Given the description of an element on the screen output the (x, y) to click on. 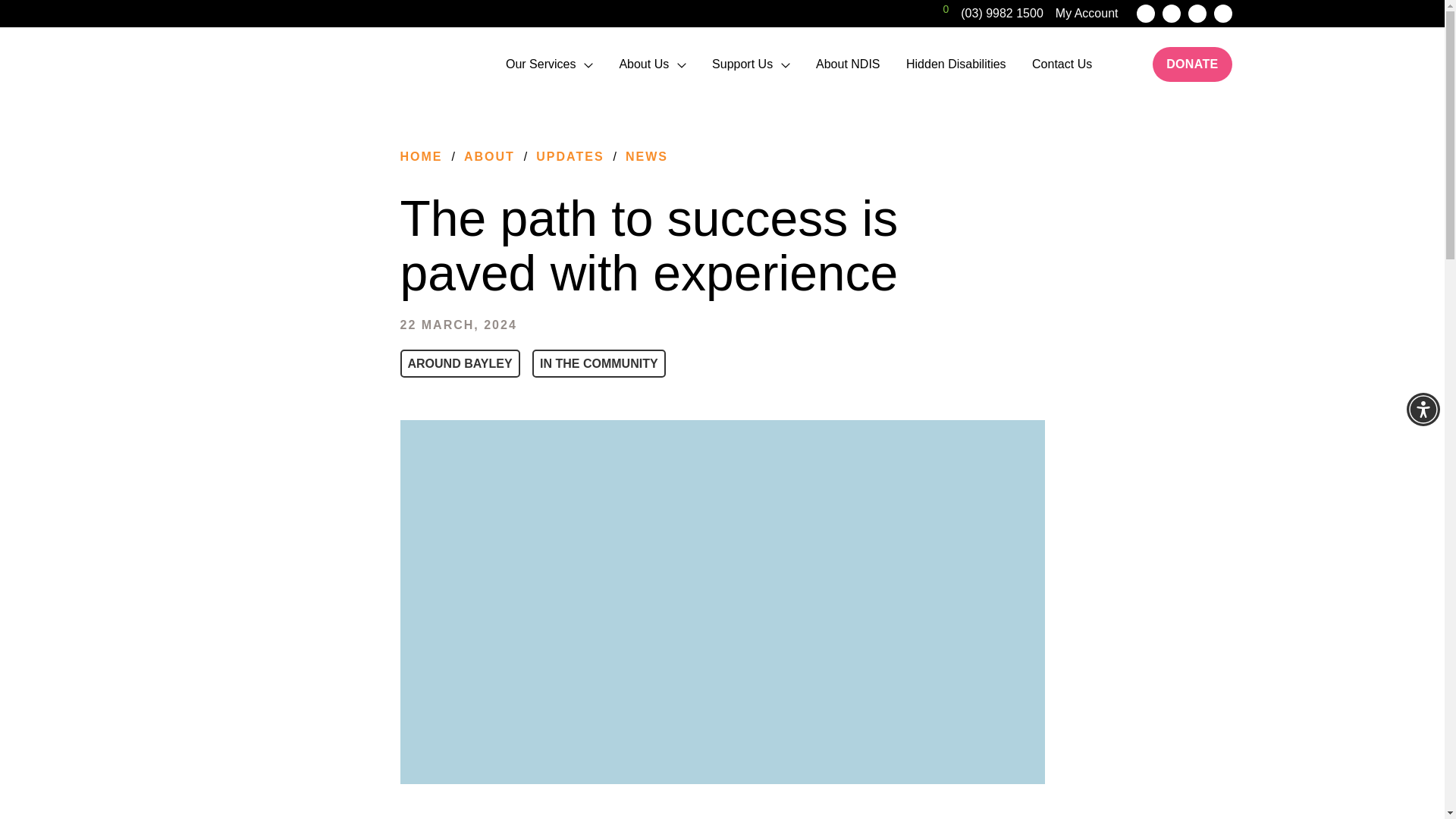
Back to home (282, 63)
0 (937, 13)
My Account (1086, 13)
Linkedin (1170, 13)
Accessibility Menu (1422, 409)
Facebook (1196, 13)
Instagram (1144, 13)
Youtube (1221, 13)
Our Services (540, 64)
About Us (643, 64)
